Given the description of an element on the screen output the (x, y) to click on. 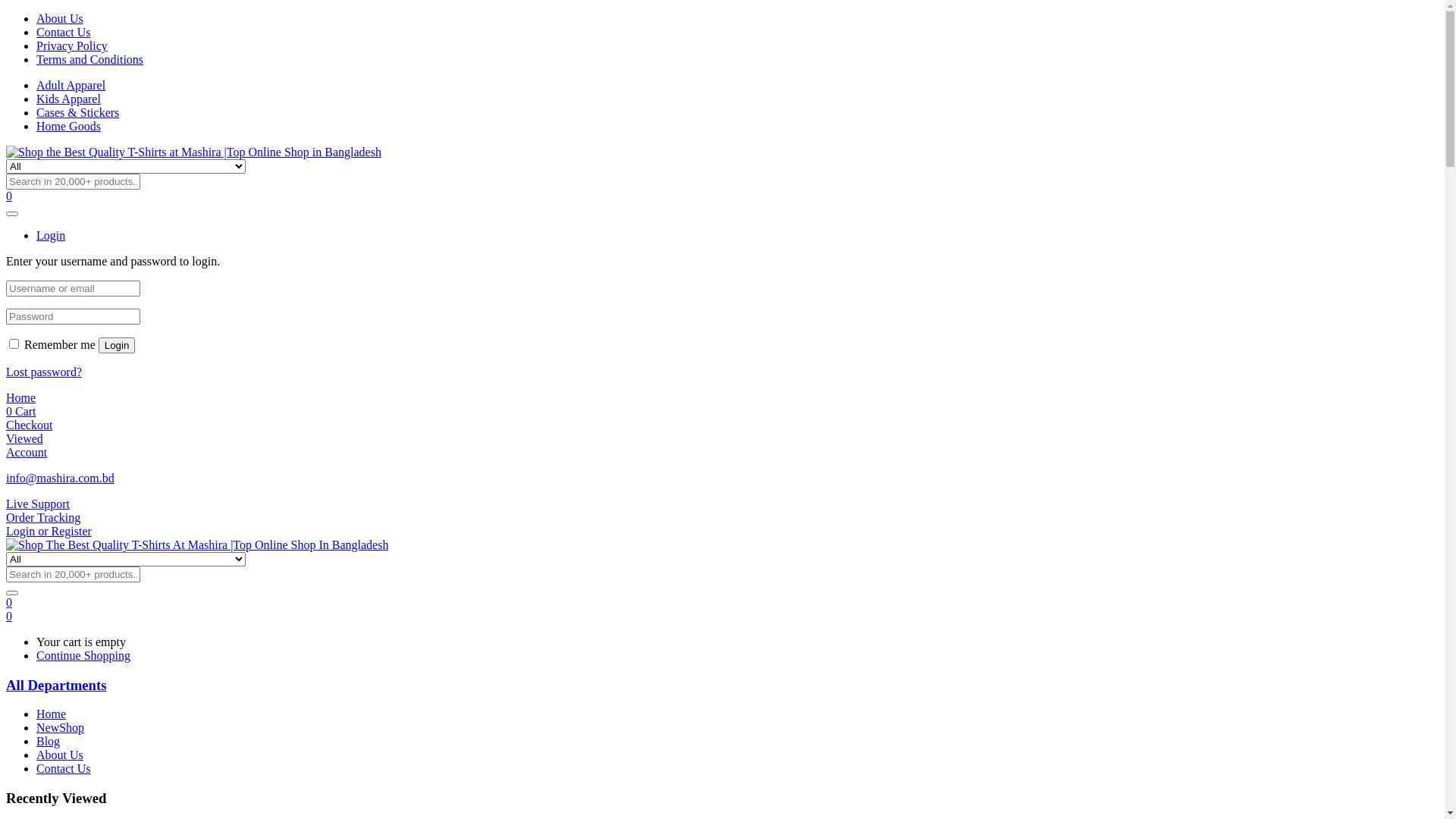
Checkout Element type: text (29, 424)
Live Support Element type: text (37, 503)
Login or Register Element type: text (48, 530)
Blog Element type: text (47, 740)
Adult Apparel Element type: text (70, 84)
Contact Us Element type: text (63, 768)
All Departments Element type: text (56, 685)
0 Element type: text (9, 602)
About Us Element type: text (59, 754)
Cases & Stickers Element type: text (77, 112)
Terms and Conditions Element type: text (89, 59)
Home Element type: text (50, 713)
Privacy Policy Element type: text (71, 45)
Contact Us Element type: text (63, 31)
Login Element type: text (116, 345)
Login Element type: text (50, 235)
0 Cart Element type: text (21, 410)
Kids Apparel Element type: text (68, 98)
Lost password? Element type: text (43, 371)
Order Tracking Element type: text (43, 517)
Account Element type: text (26, 451)
Home Element type: text (20, 397)
About Us Element type: text (59, 18)
NewShop Element type: text (60, 727)
Home Goods Element type: text (68, 125)
info@mashira.com.bd Element type: text (60, 477)
0 Element type: text (9, 615)
0 Element type: text (9, 195)
Viewed Element type: text (24, 438)
Continue Shopping Element type: text (83, 655)
